Given the description of an element on the screen output the (x, y) to click on. 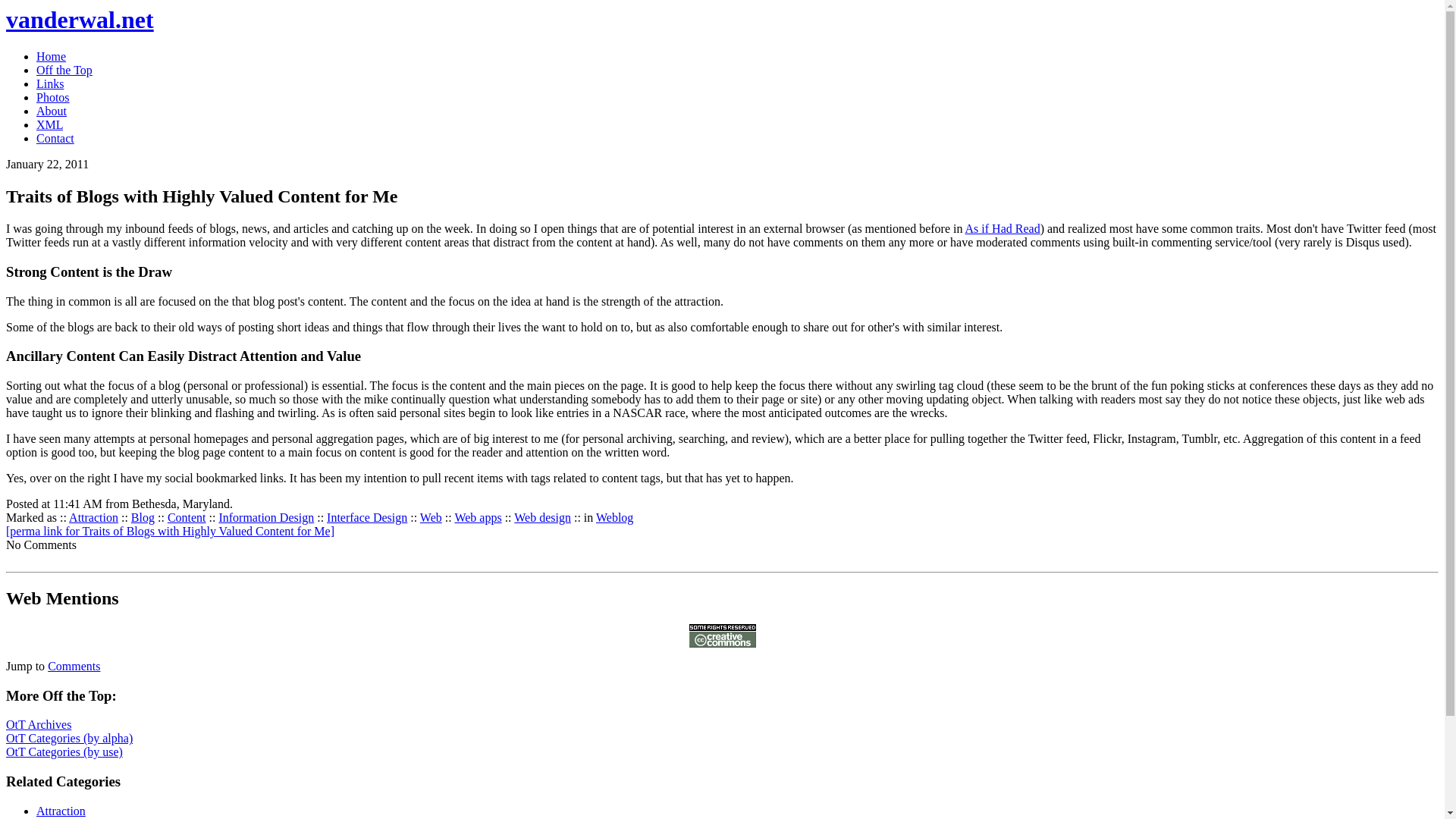
Contact (55, 137)
Weblog (614, 517)
Links (50, 83)
XML (49, 124)
Home (50, 56)
Link to links (50, 83)
Off the Top (64, 69)
Web apps (477, 517)
